Given the description of an element on the screen output the (x, y) to click on. 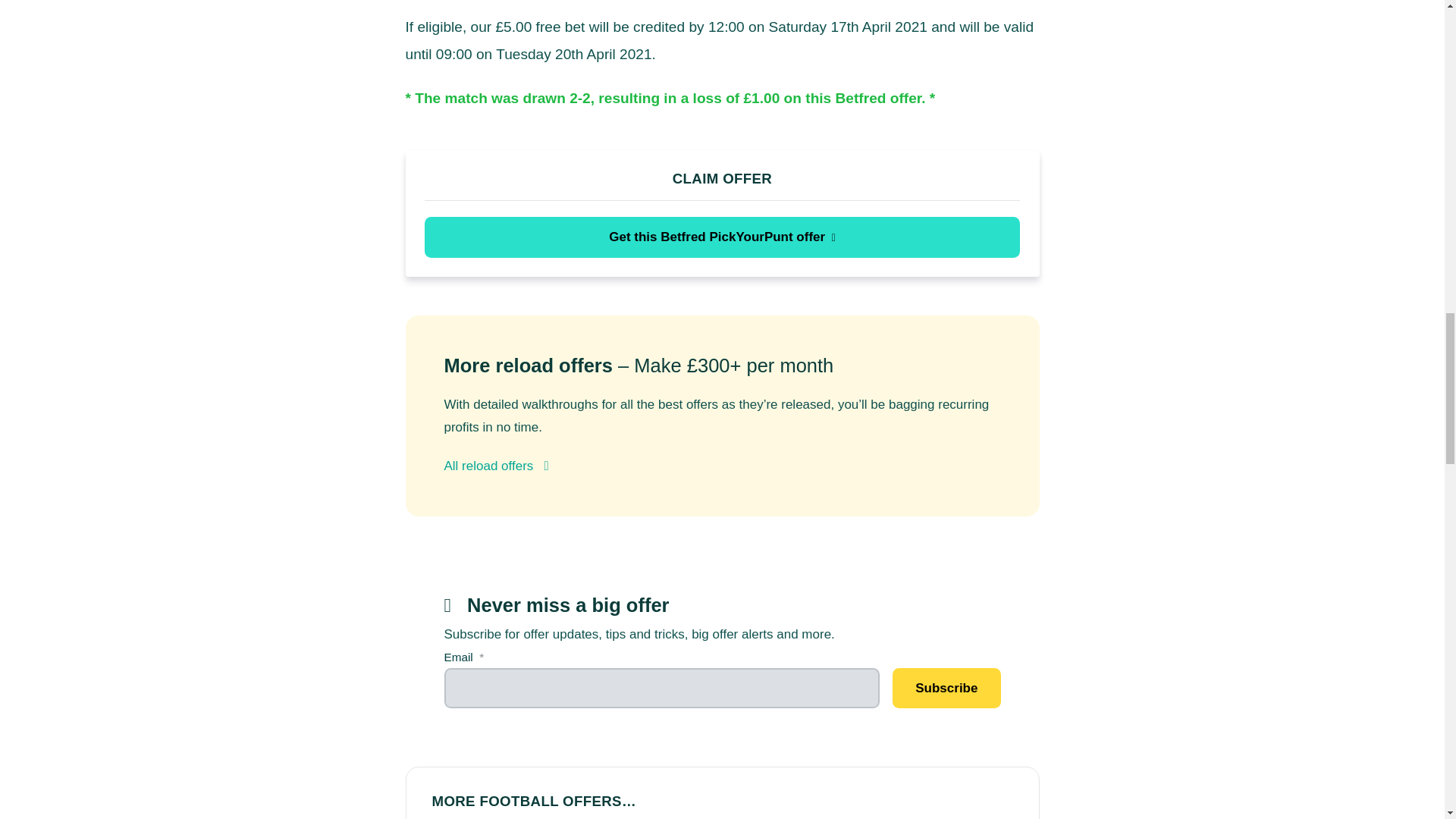
Subscribe (946, 688)
